Given the description of an element on the screen output the (x, y) to click on. 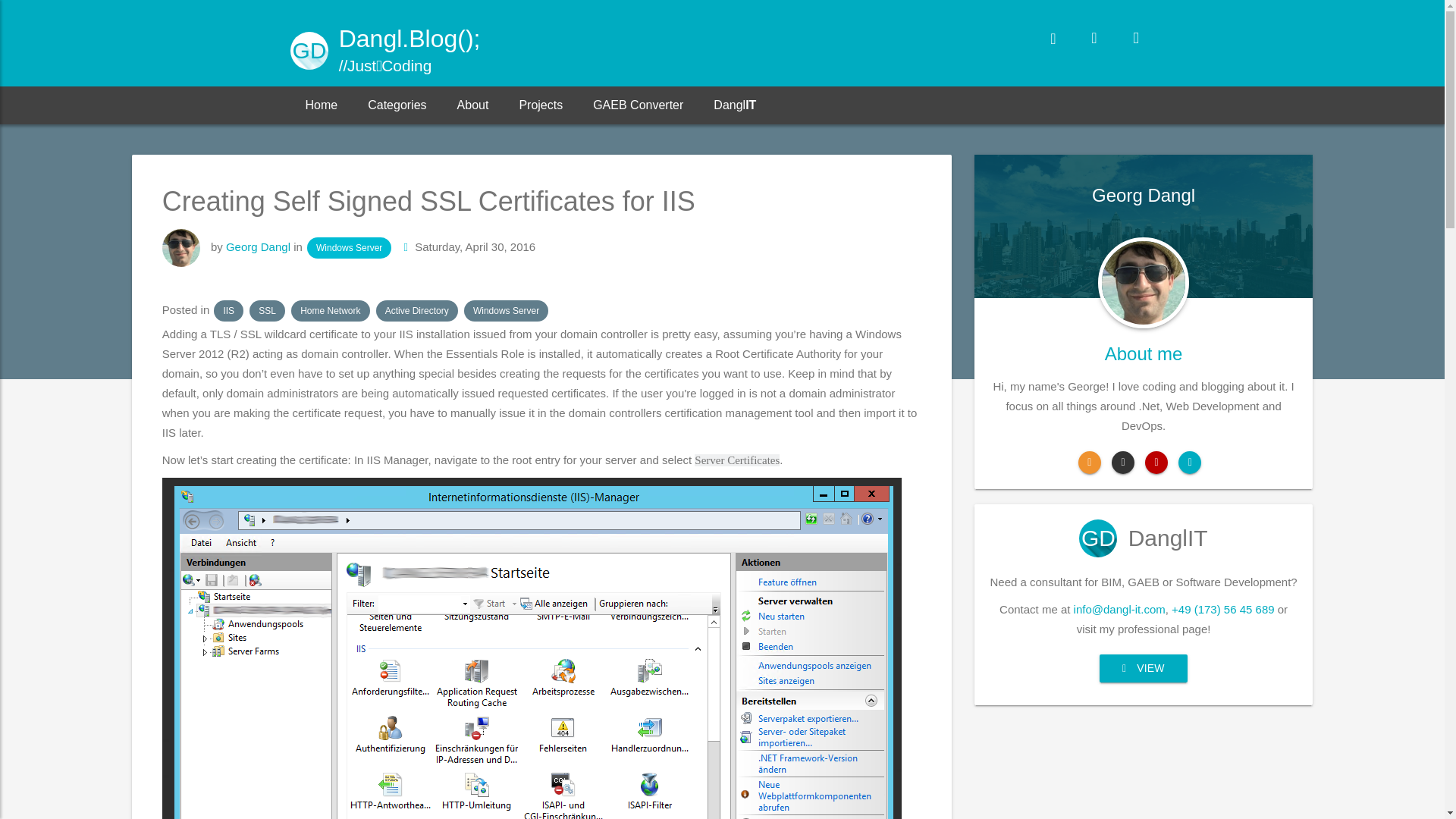
Active Directory (416, 310)
Georg Dangl (1143, 252)
Windows Server (506, 310)
SSL (266, 310)
Georg Dangl (257, 246)
Windows Server (349, 247)
Home Network (330, 310)
IIS (228, 310)
About me (1143, 409)
